Given the description of an element on the screen output the (x, y) to click on. 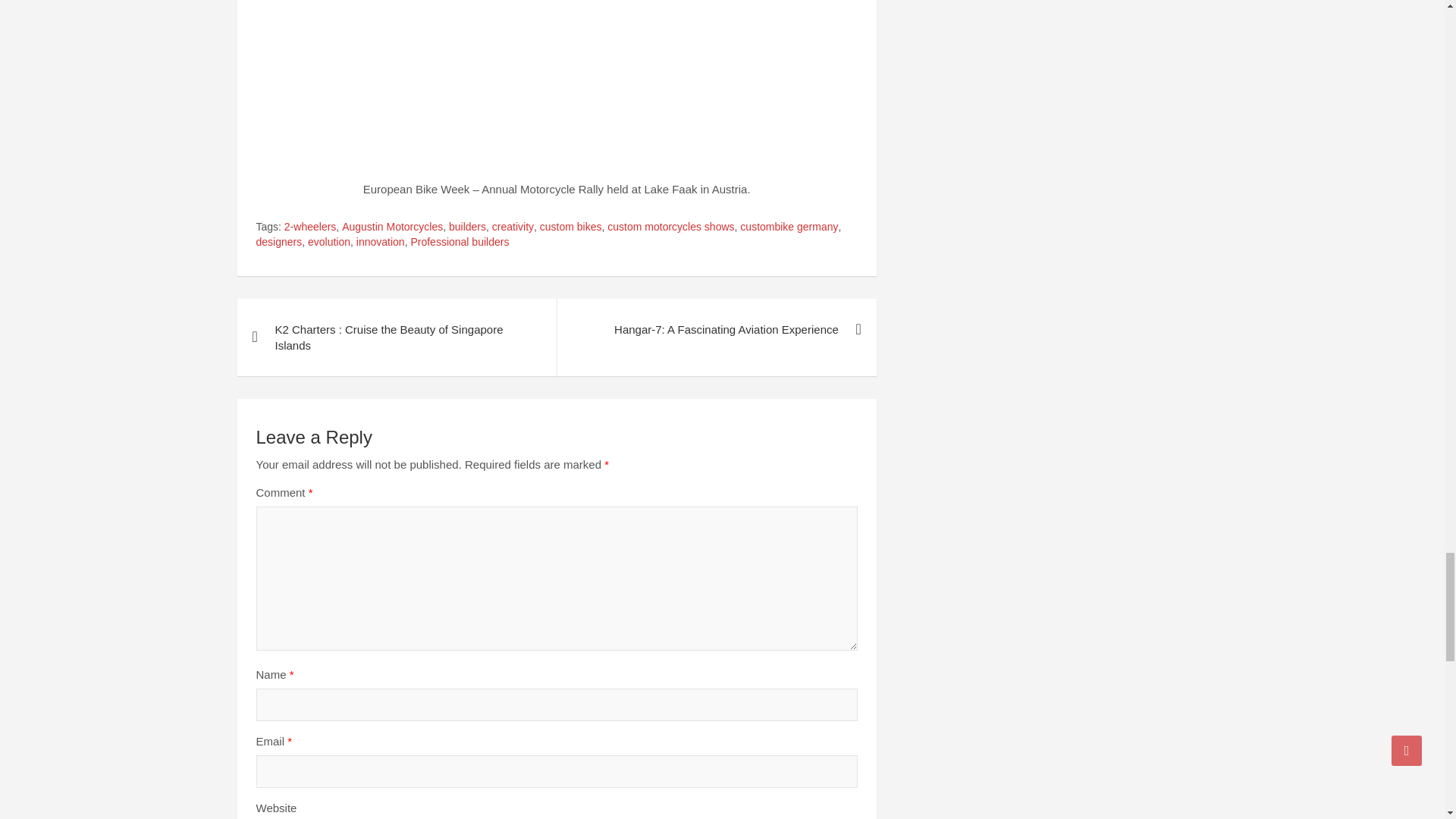
2-wheelers (309, 227)
custom bikes (571, 227)
creativity (513, 227)
builders (467, 227)
Augustin Motorcycles (392, 227)
